Given the description of an element on the screen output the (x, y) to click on. 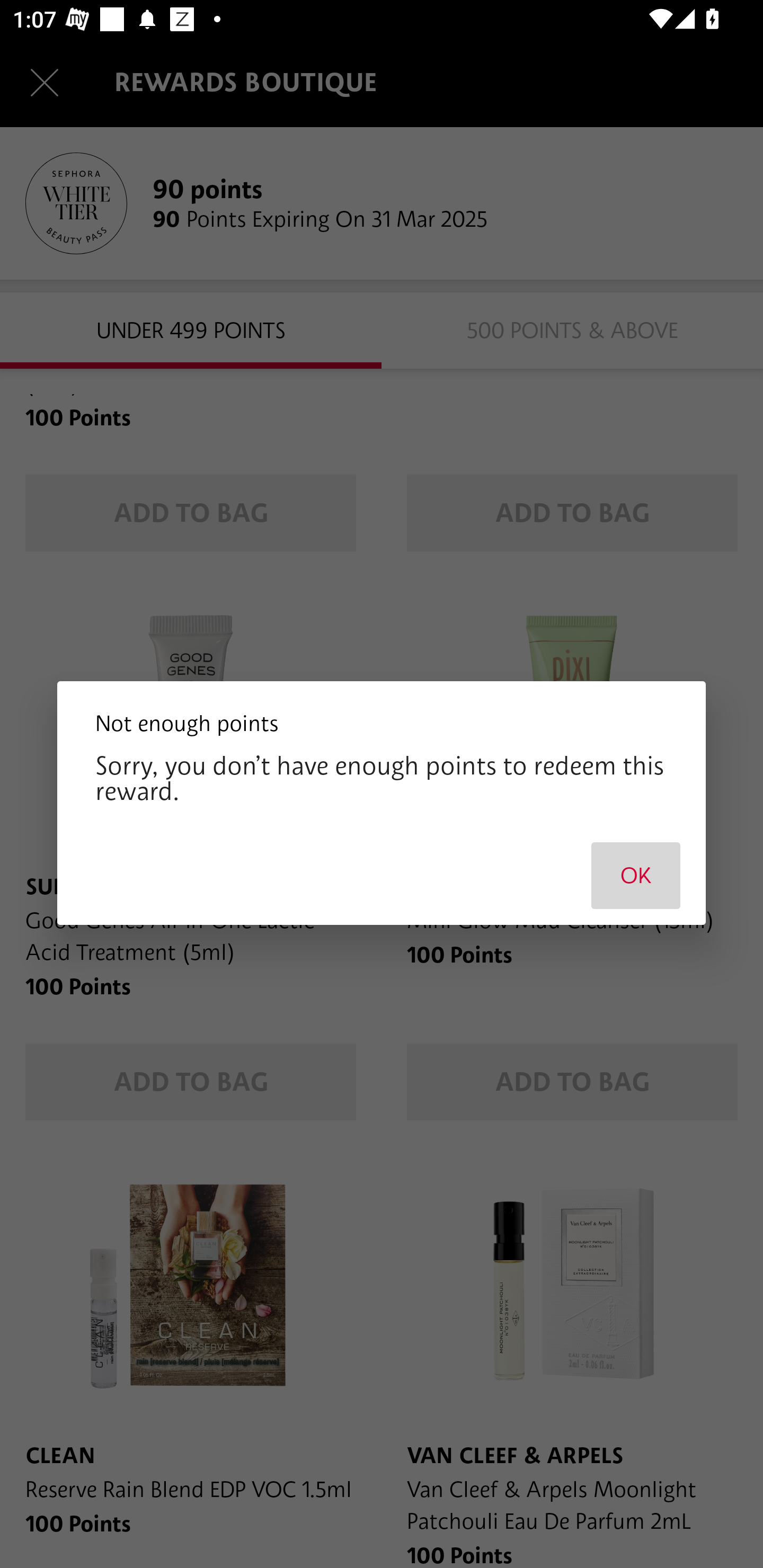
OK (635, 875)
